Given the description of an element on the screen output the (x, y) to click on. 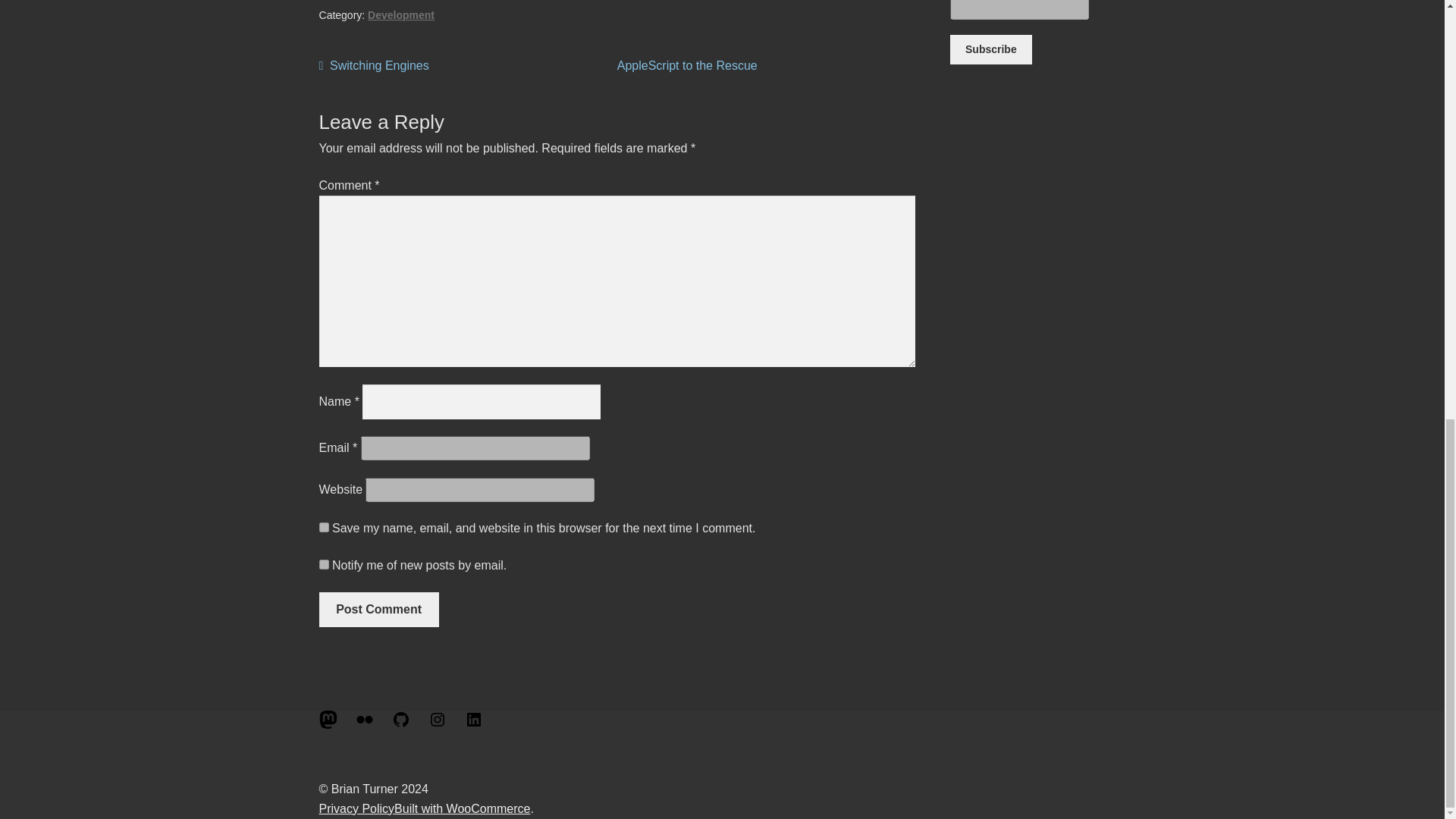
Subscribe (990, 50)
WooCommerce - The Best eCommerce Platform for WordPress (461, 808)
Mastodon (327, 724)
Subscribe (990, 50)
Post Comment (378, 609)
subscribe (323, 564)
yes (323, 527)
Post Comment (687, 65)
Development (373, 66)
